Given the description of an element on the screen output the (x, y) to click on. 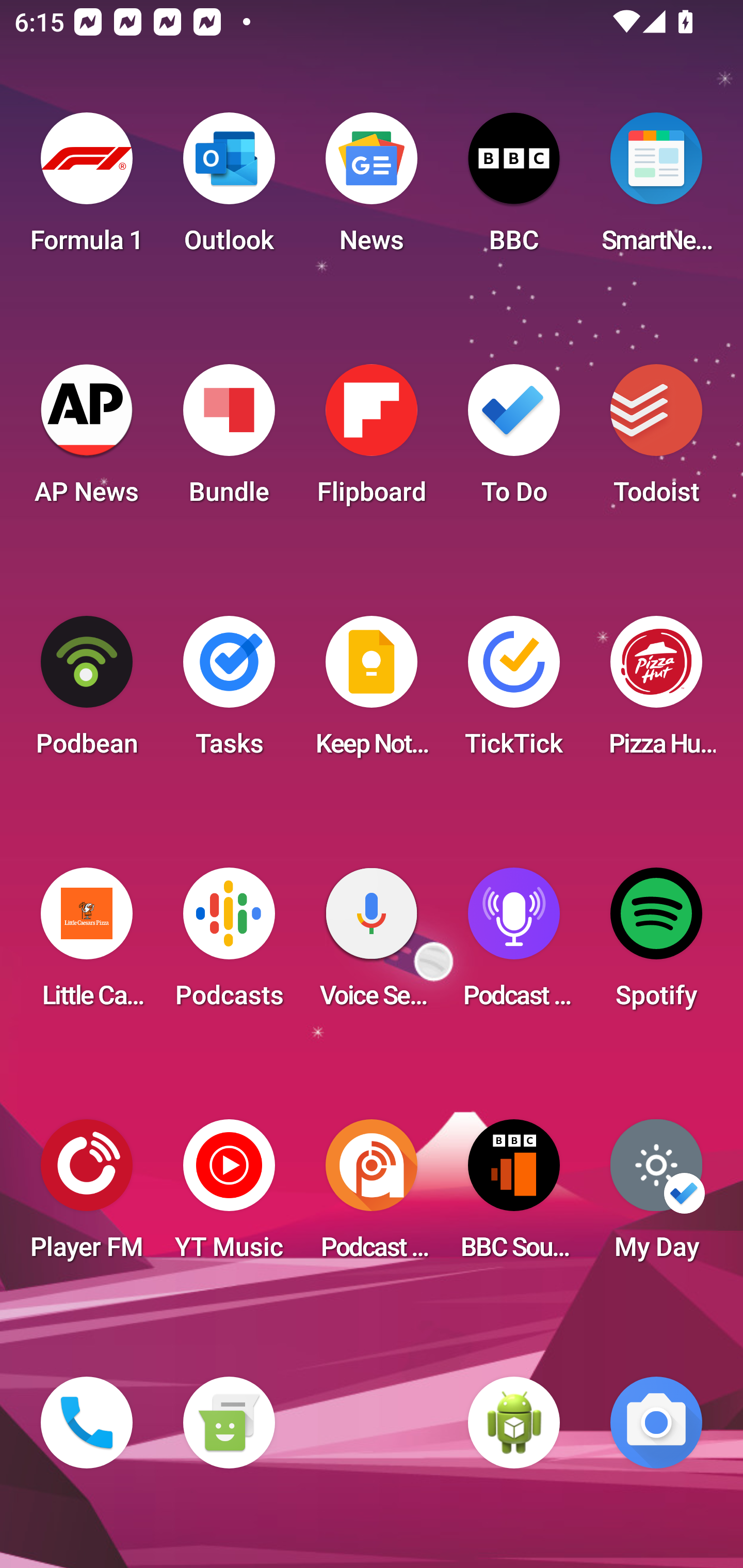
Formula 1 (86, 188)
Outlook (228, 188)
News (371, 188)
BBC (513, 188)
SmartNews (656, 188)
AP News (86, 440)
Bundle (228, 440)
Flipboard (371, 440)
To Do (513, 440)
Todoist (656, 440)
Podbean (86, 692)
Tasks (228, 692)
Keep Notes (371, 692)
TickTick (513, 692)
Pizza Hut HK & Macau (656, 692)
Little Caesars Pizza (86, 943)
Podcasts (228, 943)
Voice Search (371, 943)
Podcast Player (513, 943)
Spotify (656, 943)
Player FM (86, 1195)
YT Music (228, 1195)
Podcast Addict (371, 1195)
BBC Sounds (513, 1195)
My Day (656, 1195)
Phone (86, 1422)
Messaging (228, 1422)
WebView Browser Tester (513, 1422)
Camera (656, 1422)
